Given the description of an element on the screen output the (x, y) to click on. 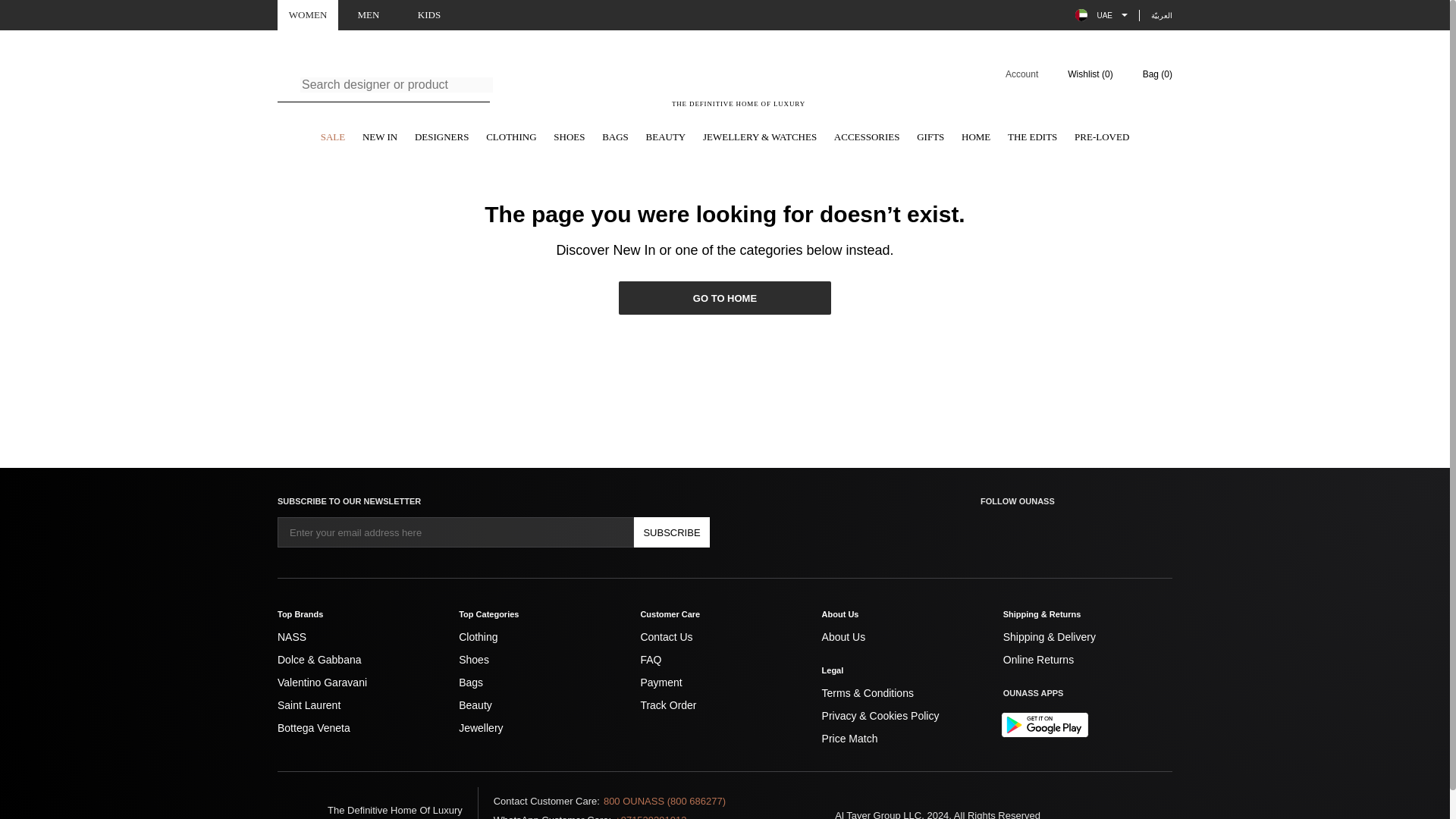
MEN (367, 15)
SUBSCRIBE (671, 531)
PRE-LOVED (1101, 137)
BEAUTY (665, 137)
UAE (1101, 15)
NEW IN (379, 137)
ACCESSORIES (866, 137)
GIFTS (930, 137)
KIDS (429, 15)
WOMEN (307, 15)
THE EDITS (1032, 137)
SALE (333, 137)
GO TO HOME (724, 297)
SHOES (569, 137)
Account (1012, 73)
